Given the description of an element on the screen output the (x, y) to click on. 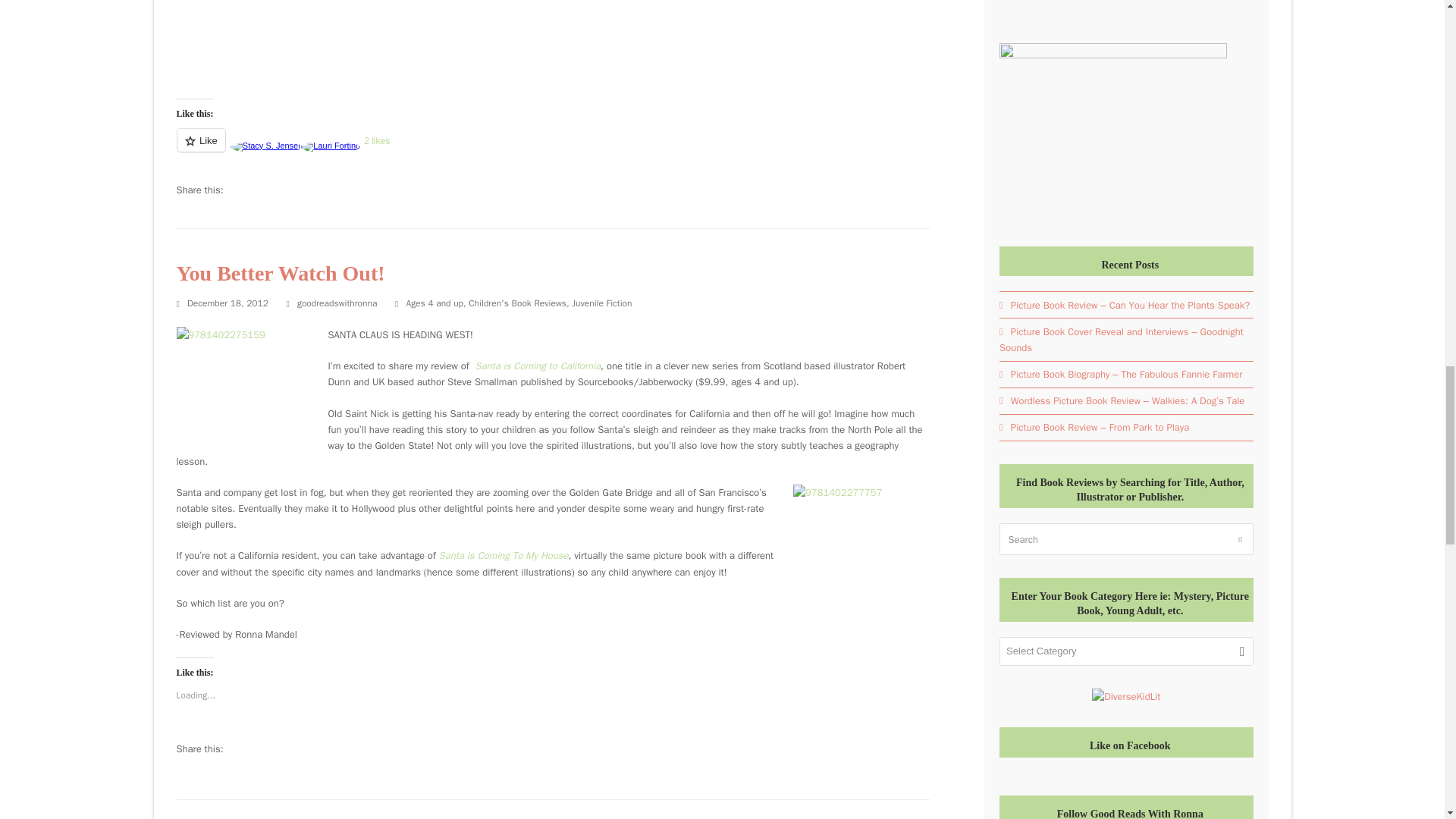
Ages 4 and up (434, 303)
goodreadswithronna (337, 303)
Santa is Coming To My House (504, 554)
Santa is Coming to California (536, 365)
Like or Reblog (553, 148)
Juvenile Fiction (601, 303)
Posts by goodreadswithronna (337, 303)
You Better Watch Out! (280, 273)
Children's Book Reviews (517, 303)
